Given the description of an element on the screen output the (x, y) to click on. 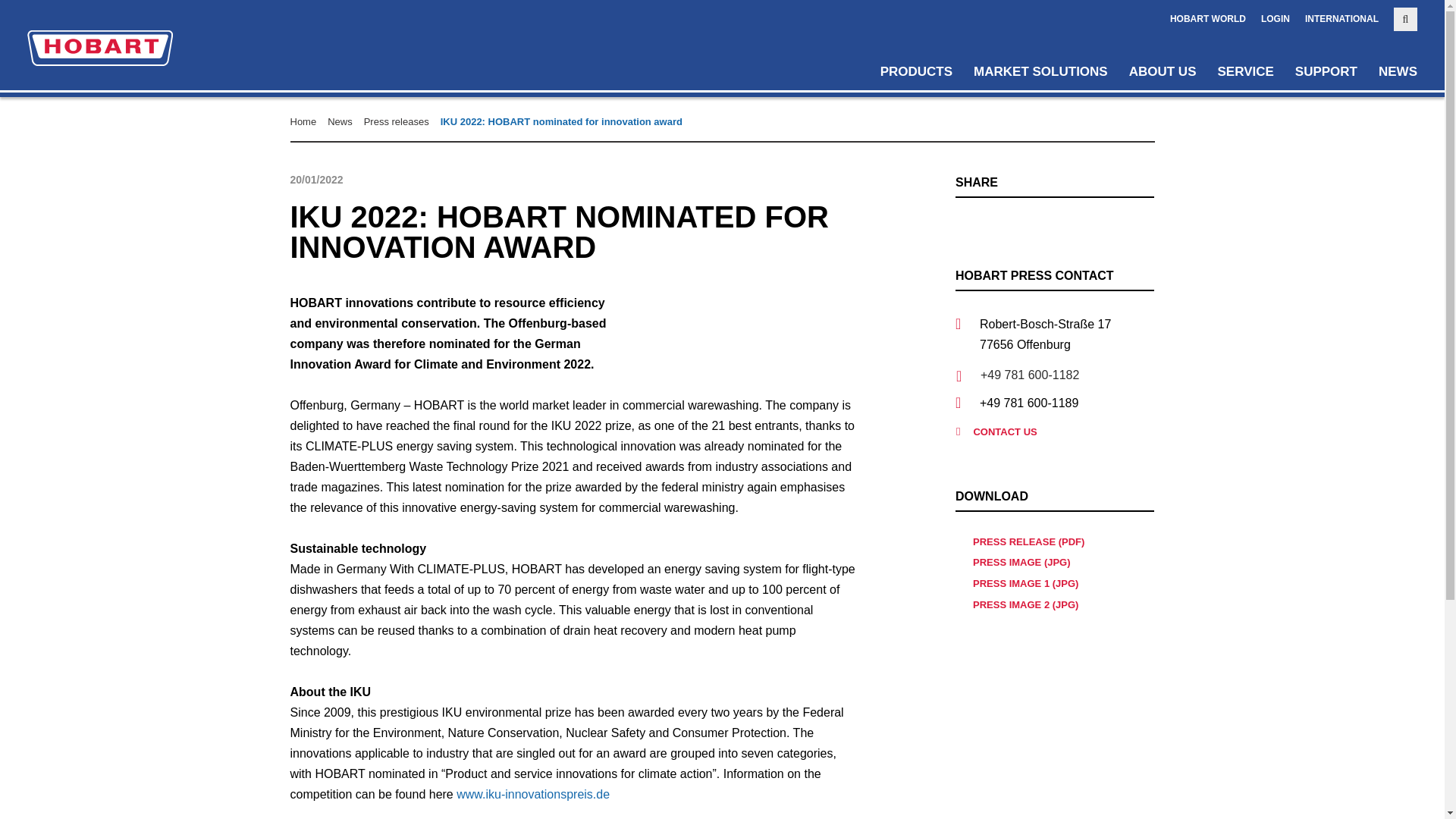
HOBART WORLD (1208, 18)
PRODUCTS (916, 71)
INTERNATIONAL (1341, 18)
LOGIN (1275, 18)
